Given the description of an element on the screen output the (x, y) to click on. 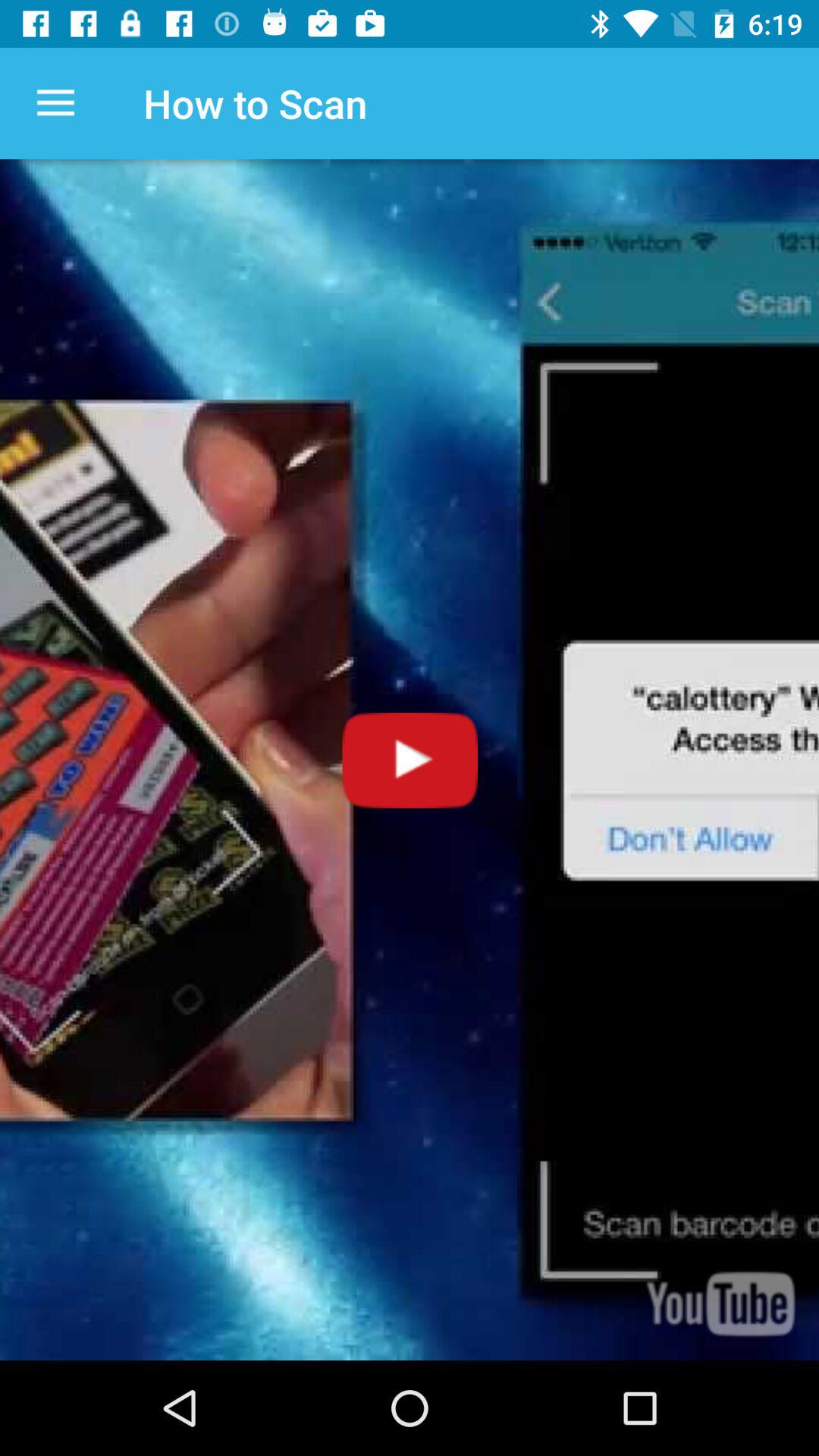
play video (409, 759)
